Given the description of an element on the screen output the (x, y) to click on. 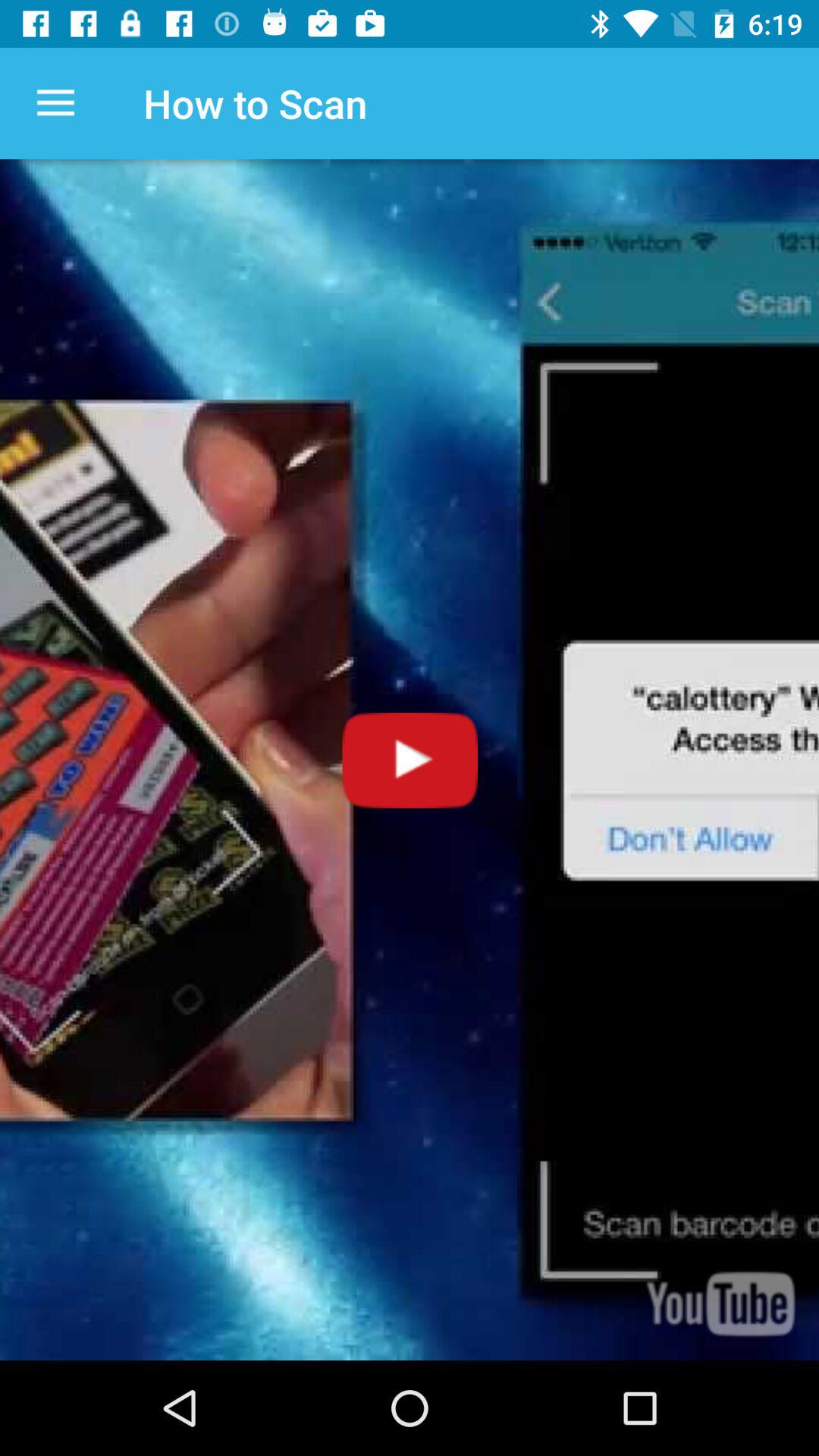
play video (409, 759)
